Given the description of an element on the screen output the (x, y) to click on. 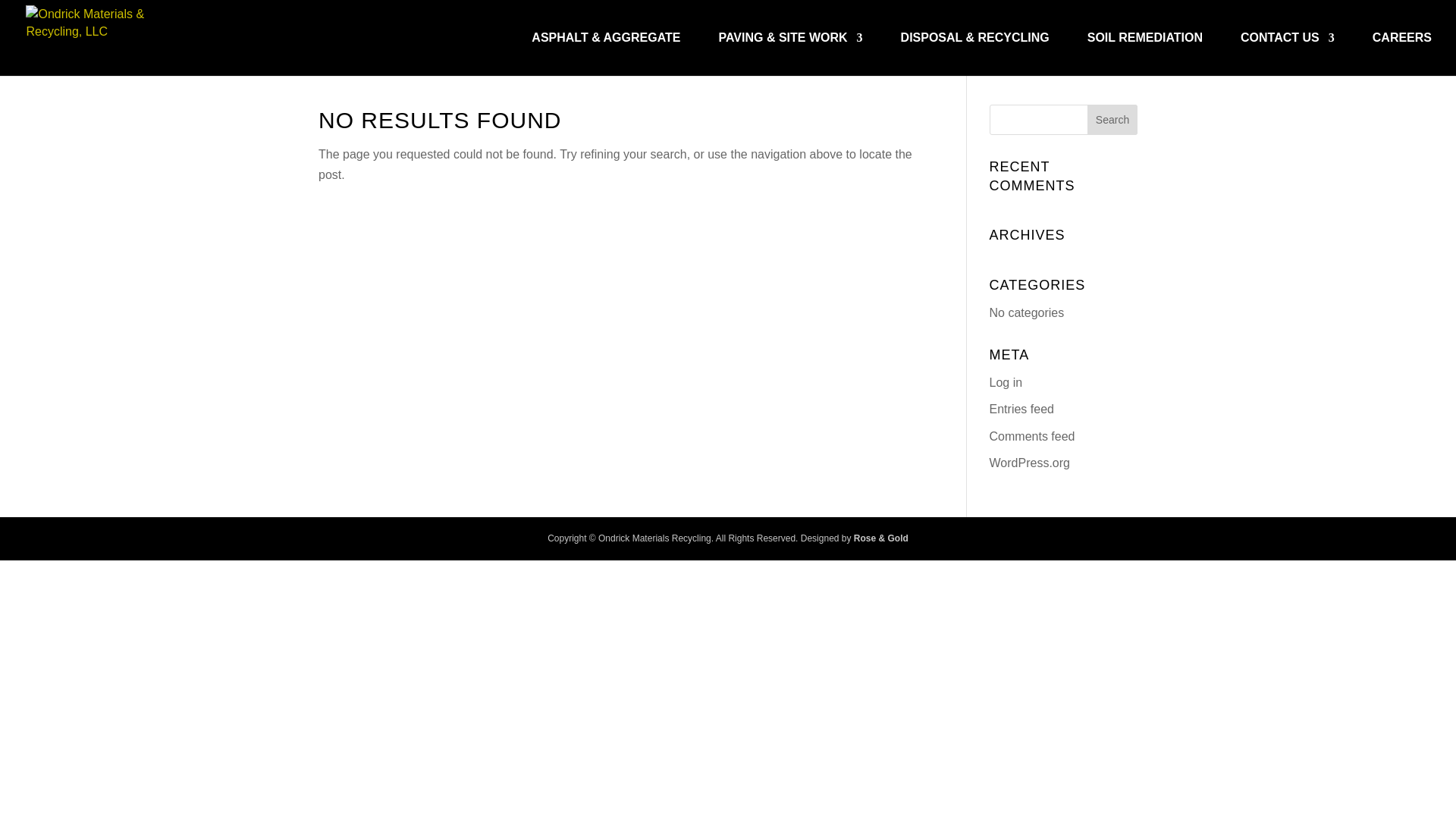
Log in (1006, 382)
CONTACT US (1287, 54)
SOIL REMEDIATION (1144, 54)
Search (1112, 119)
Comments feed (1032, 435)
WordPress.org (1030, 462)
Entries feed (1022, 408)
Search (1112, 119)
CAREERS (1402, 54)
